Given the description of an element on the screen output the (x, y) to click on. 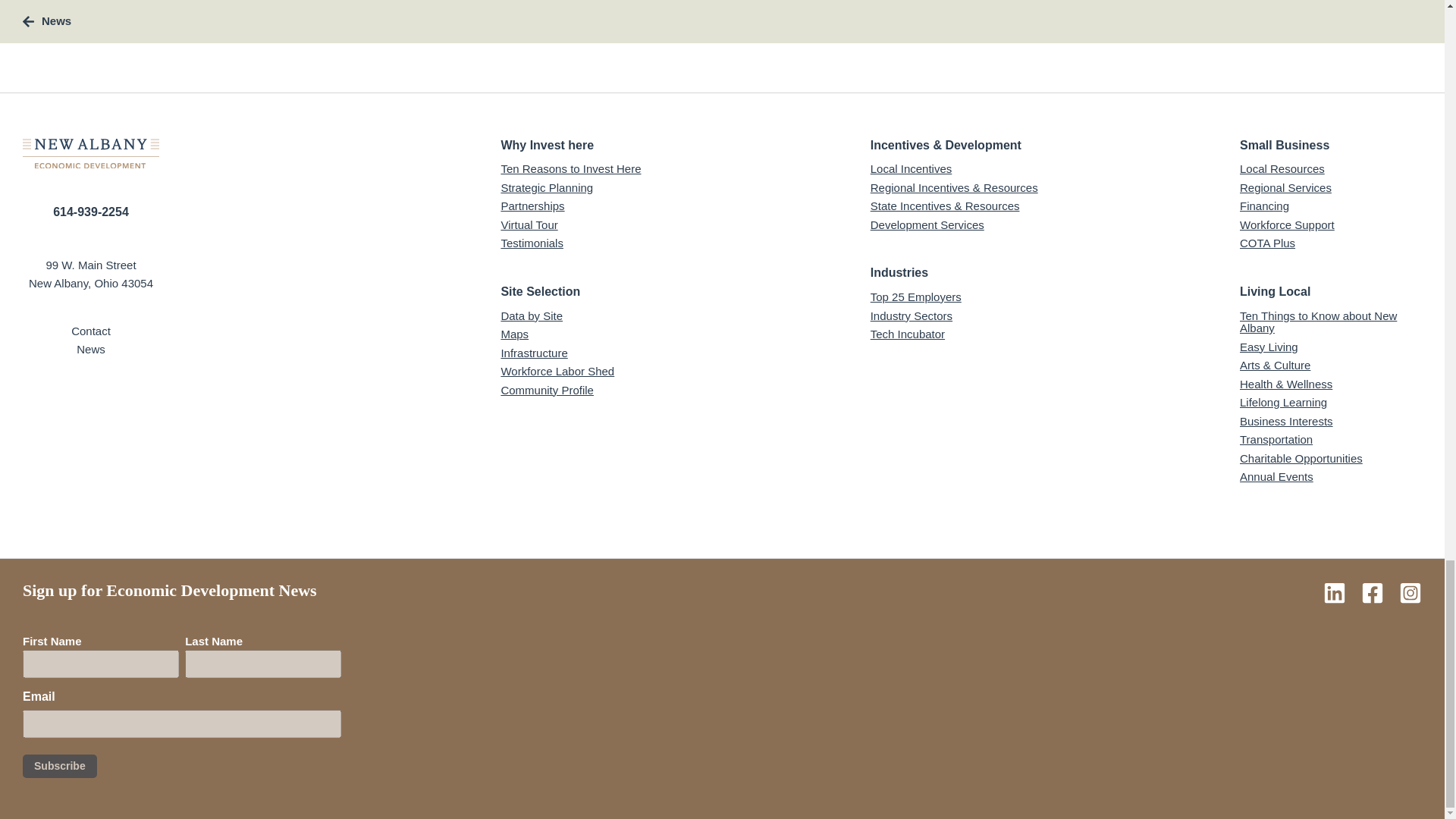
Subscribe (60, 766)
